Given the description of an element on the screen output the (x, y) to click on. 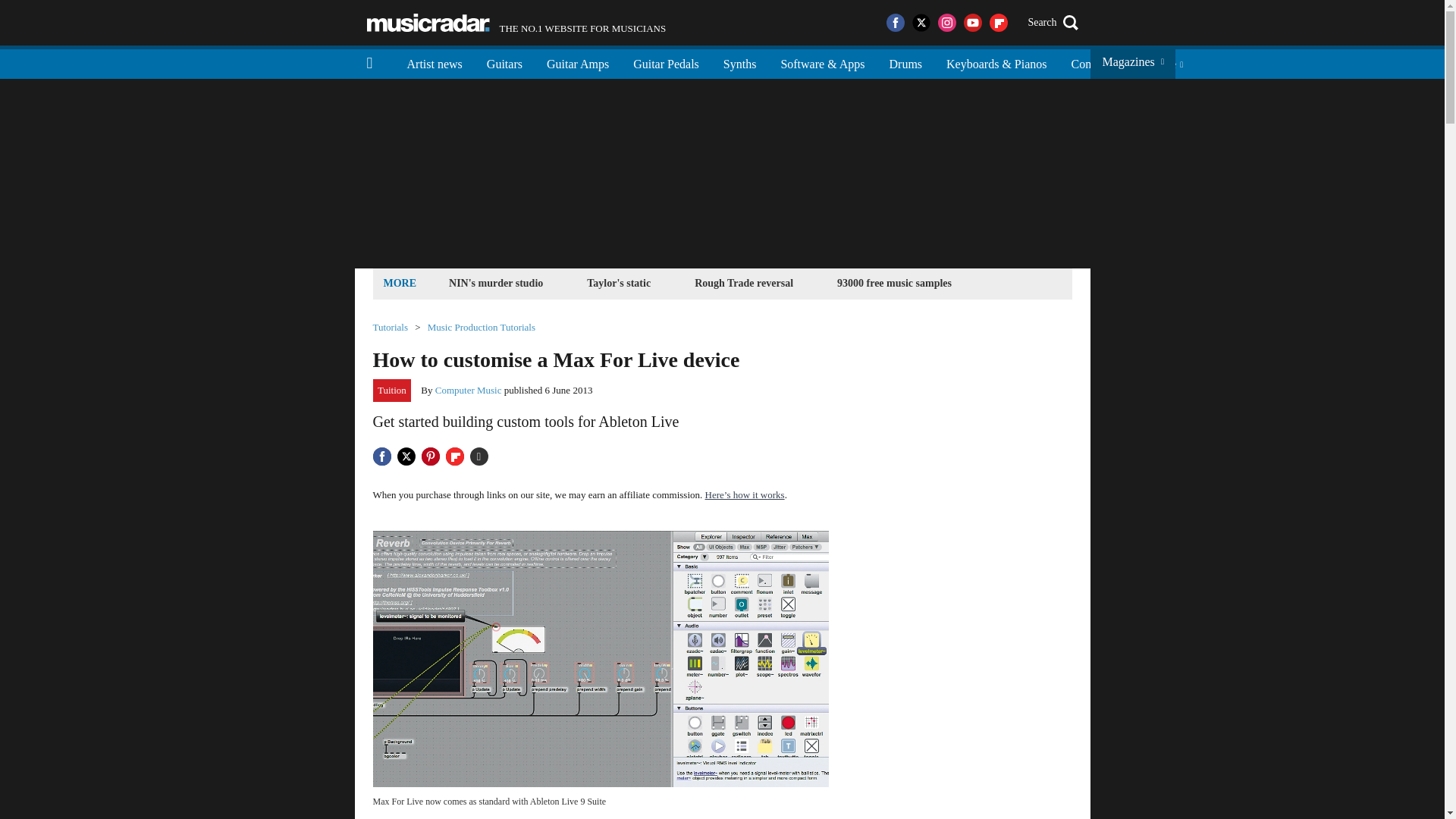
Synths (739, 61)
Artist news (434, 61)
Drums (516, 22)
Music Radar (905, 61)
Taylor's static (427, 22)
NIN's murder studio (618, 282)
Controllers (496, 282)
Guitar Amps (1097, 61)
93000 free music samples (577, 61)
